Given the description of an element on the screen output the (x, y) to click on. 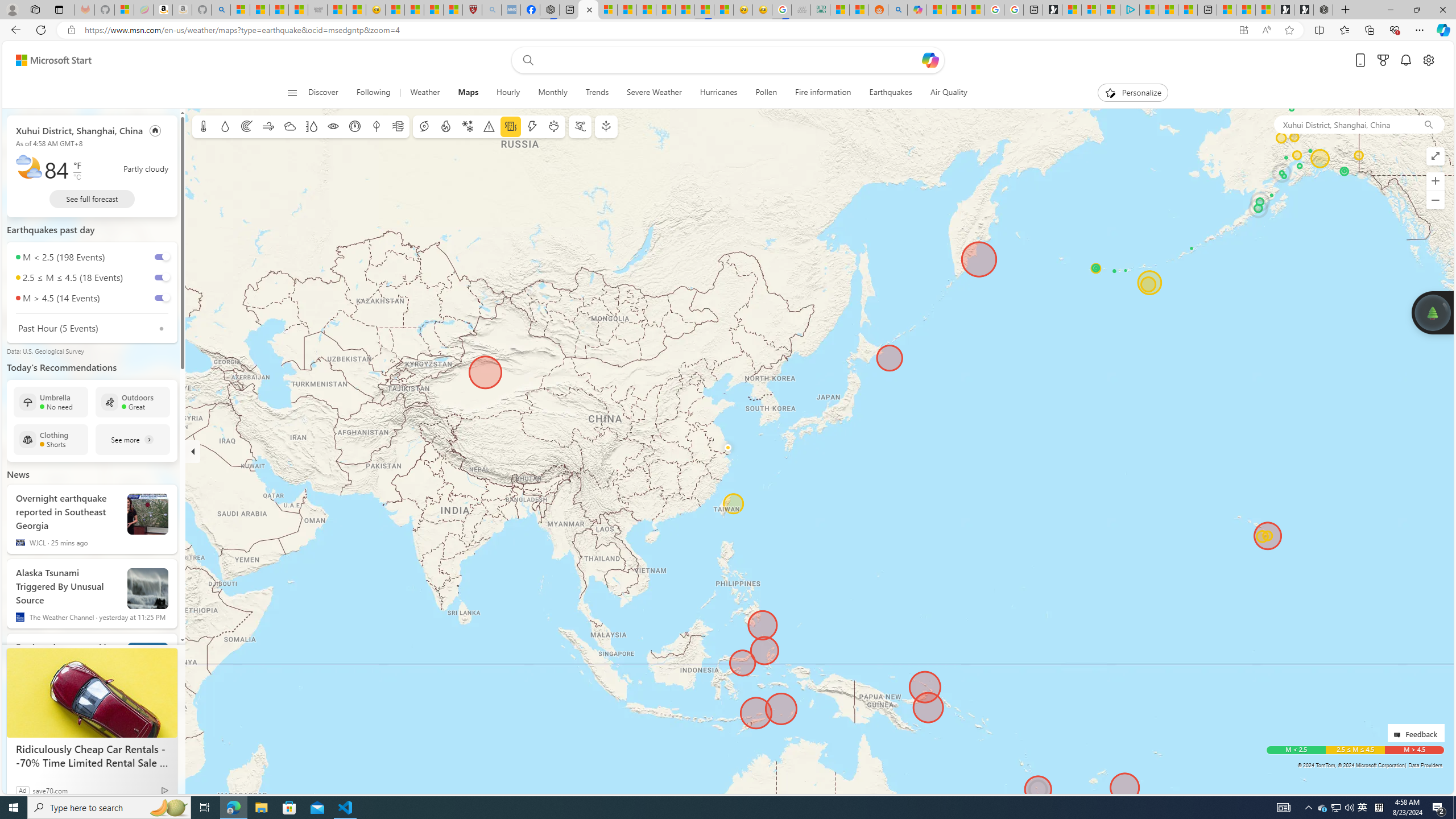
Trends (596, 92)
Temperature (203, 126)
Fire information (445, 126)
Maps (468, 92)
Open Copilot (930, 59)
12 Popular Science Lies that Must be Corrected (452, 9)
Microsoft rewards (1382, 60)
Utah sues federal government - Search (897, 9)
Lightning (532, 126)
Xuhui District, Shanghai, China (1342, 124)
Ad Choice (164, 790)
Monthly (552, 92)
View site information (70, 29)
Fire information (822, 92)
